Given the description of an element on the screen output the (x, y) to click on. 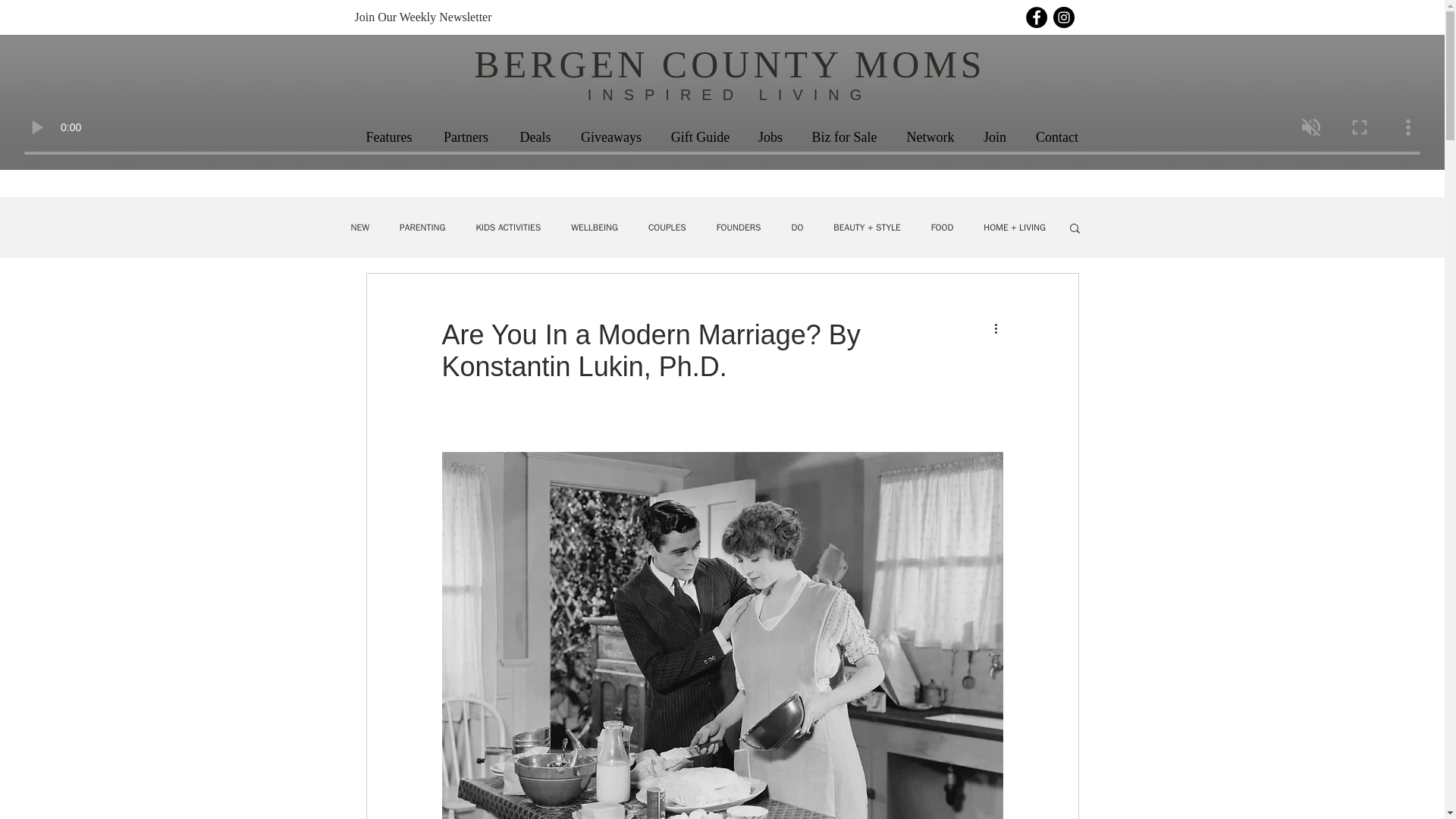
Giveaways (611, 137)
PARENTING (421, 227)
Gift Guide (700, 137)
Features (388, 137)
Network (929, 137)
Jobs (770, 137)
Biz for Sale (843, 137)
INSPIRED LIVING (730, 94)
WELLBEING (593, 227)
Deals (535, 137)
DO (796, 227)
FOUNDERS (738, 227)
COUPLES (666, 227)
FOOD (942, 227)
BERGEN COUNTY MOMS (729, 64)
